Given the description of an element on the screen output the (x, y) to click on. 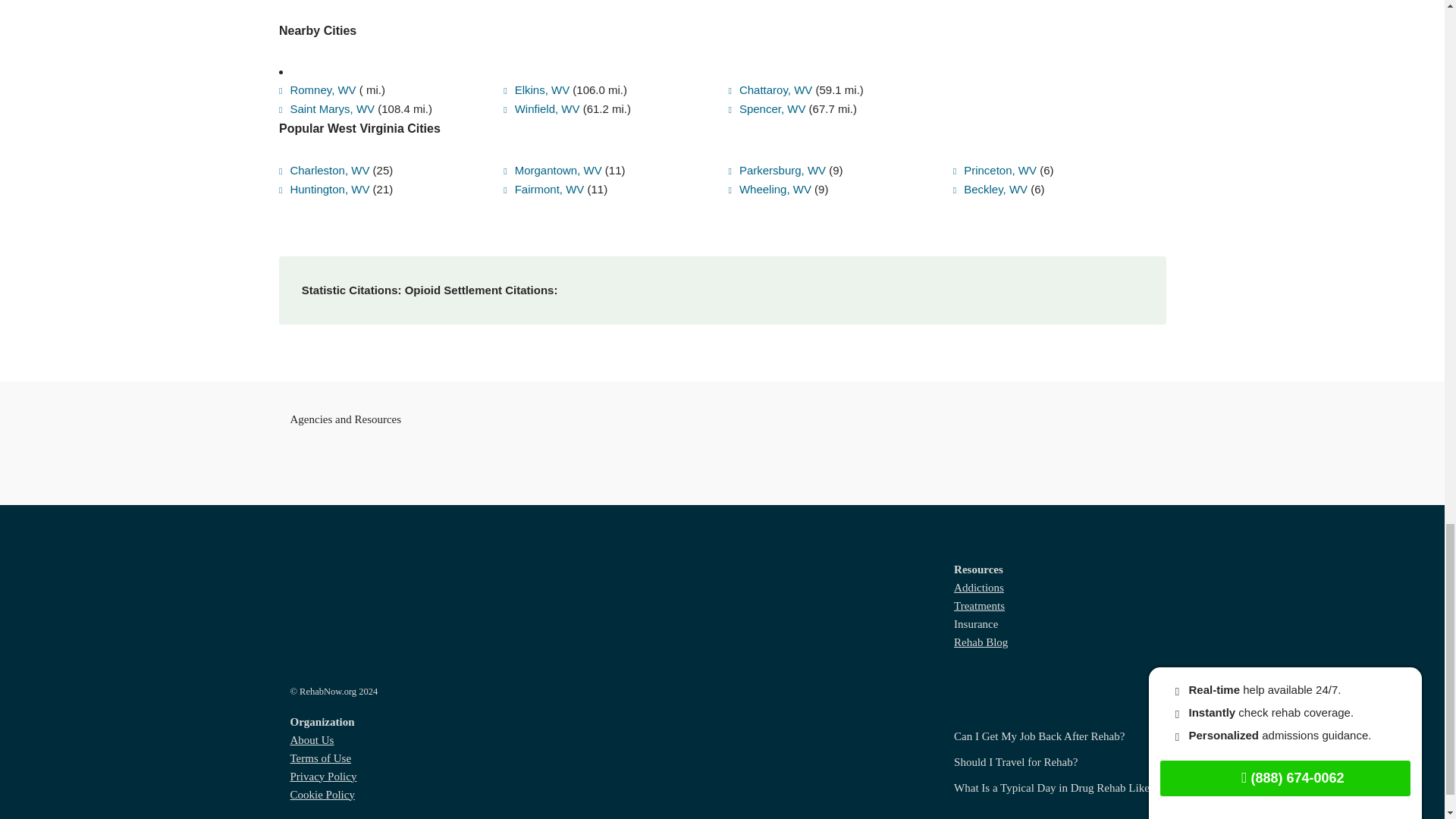
Youtube (1114, 798)
Rehab Now in Spencer, WV (766, 71)
Facebook (1056, 798)
Alcohol and Drug Rehabs in Elkins, West Virginia, WV (536, 51)
X (1085, 798)
Romney, West Virginia Addiction Treatment (317, 51)
Instagram (1143, 798)
